Given the description of an element on the screen output the (x, y) to click on. 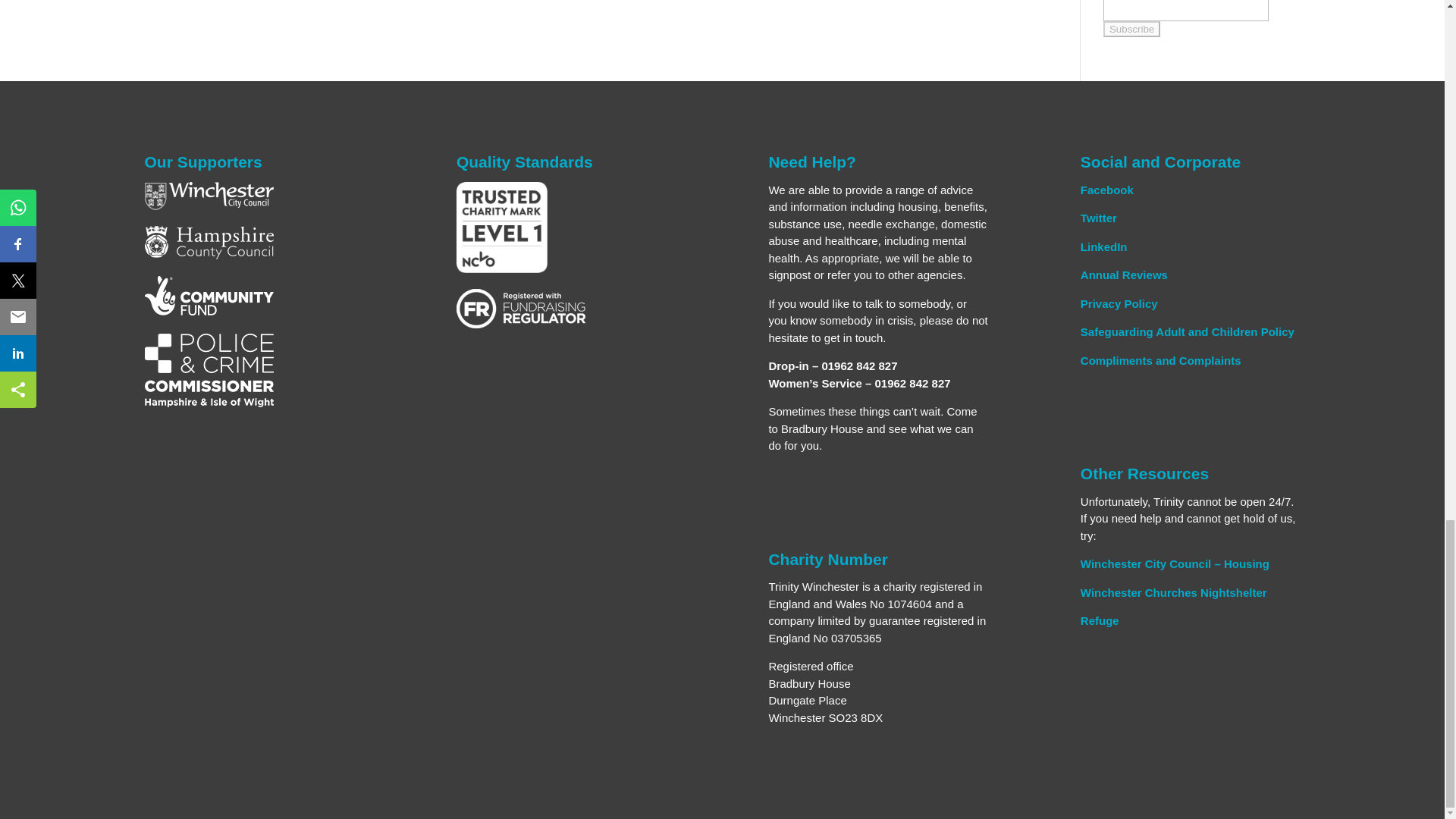
Subscribe (1131, 28)
